Given the description of an element on the screen output the (x, y) to click on. 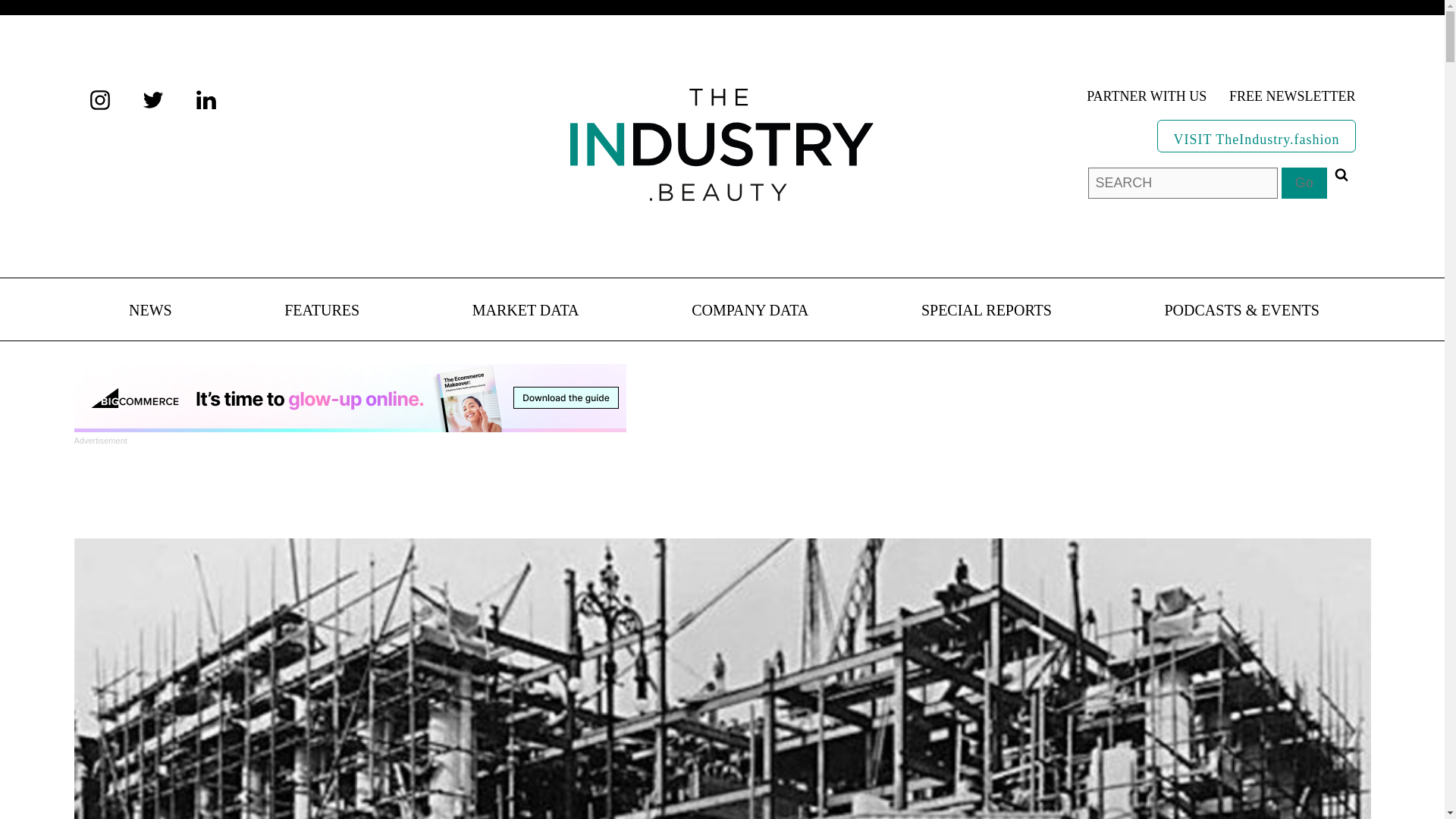
Go (1303, 183)
COMPANY DATA (749, 311)
VISIT TheIndustry.fashion (1256, 135)
FEATURES (321, 311)
Go (1303, 183)
SPECIAL REPORTS (986, 311)
MARKET DATA (525, 311)
FREE NEWSLETTER (1291, 96)
PARTNER WITH US (1146, 96)
NEWS (150, 311)
